Given the description of an element on the screen output the (x, y) to click on. 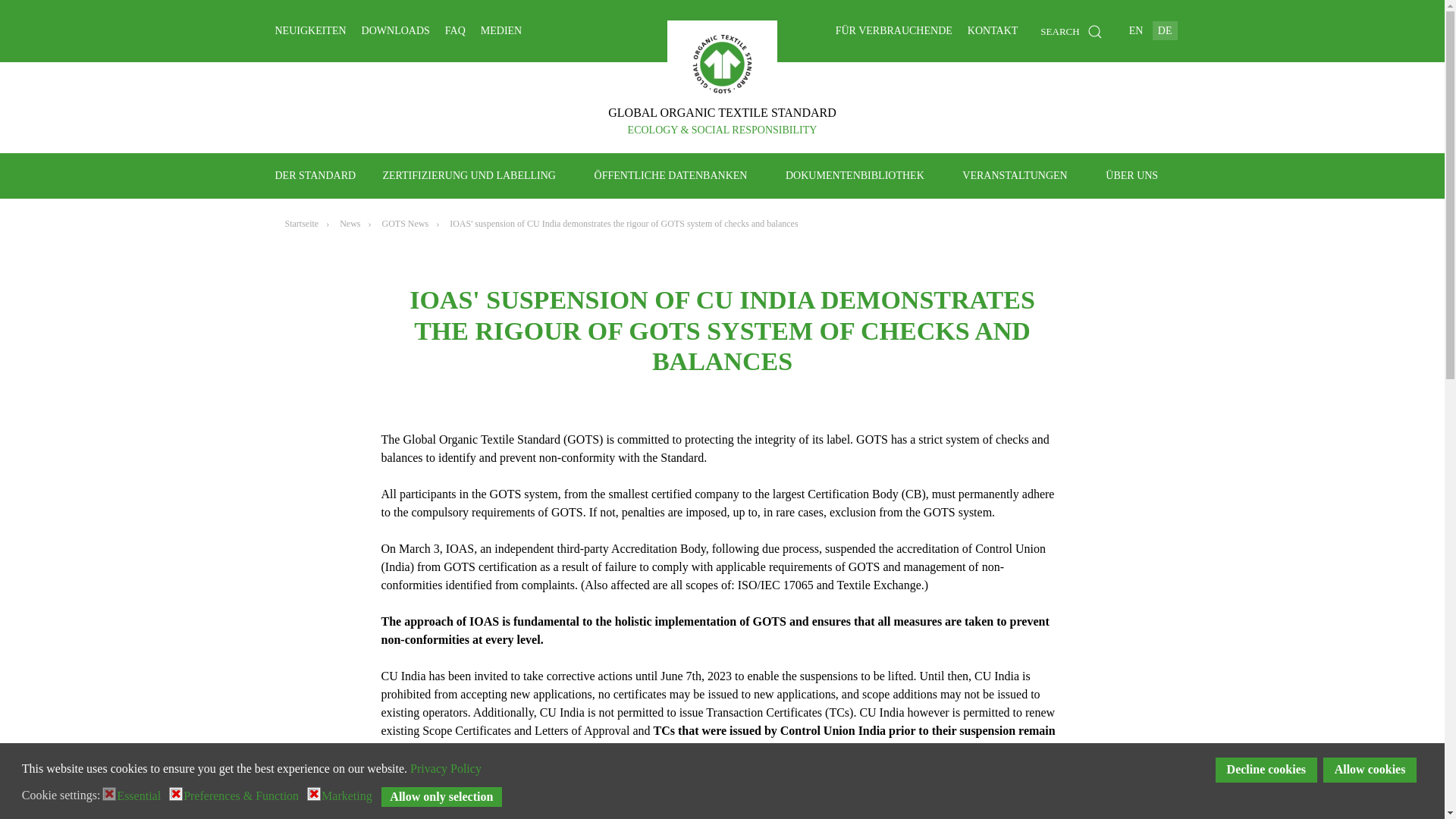
Allow only selection (441, 796)
Essential (140, 794)
Marketing (349, 794)
Privacy Policy (445, 768)
Allow cookies (1369, 769)
Decline cookies (1266, 769)
